Given the description of an element on the screen output the (x, y) to click on. 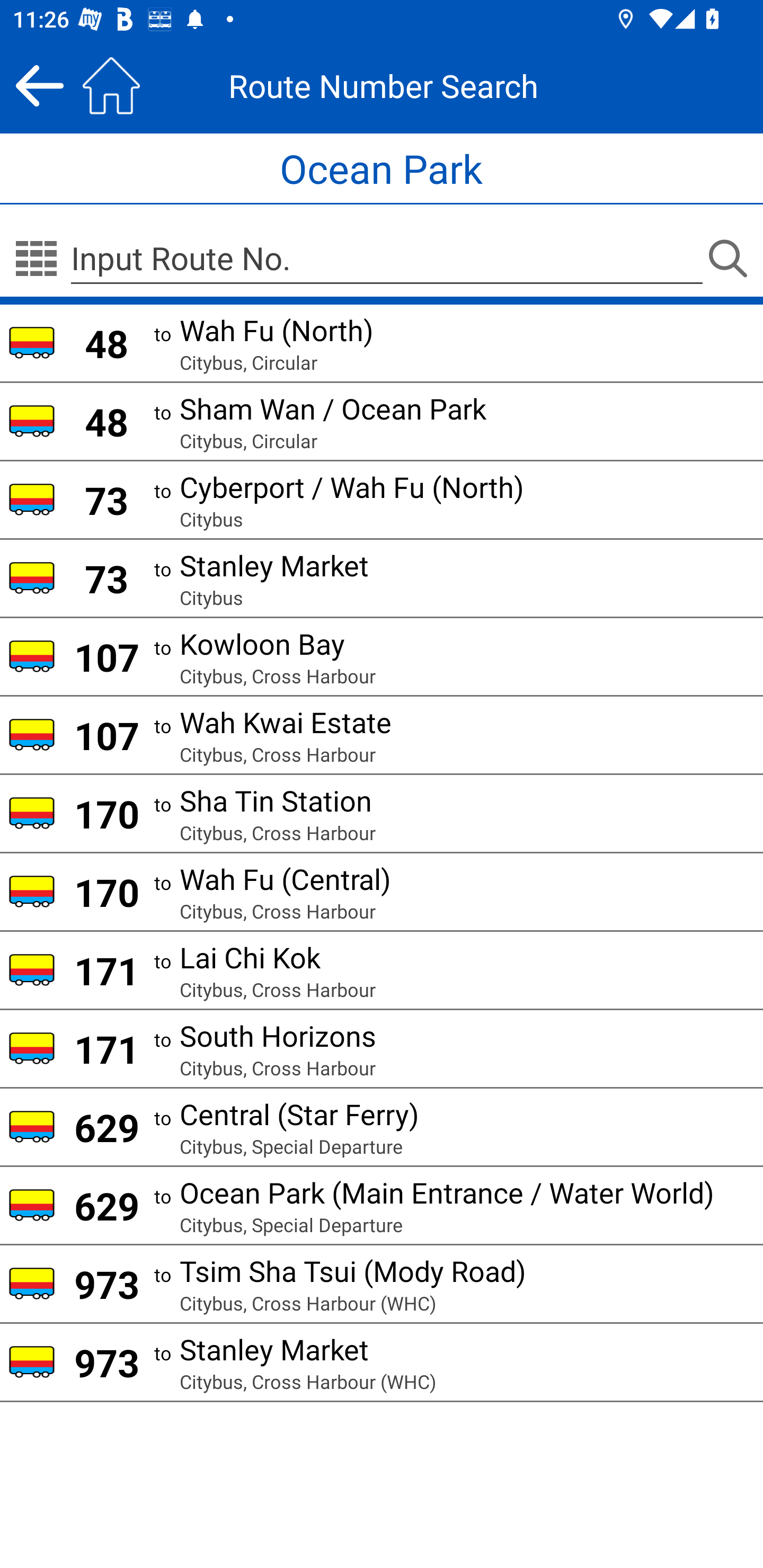
Jump to home page (111, 85)
Back (39, 85)
no (36, 258)
